Given the description of an element on the screen output the (x, y) to click on. 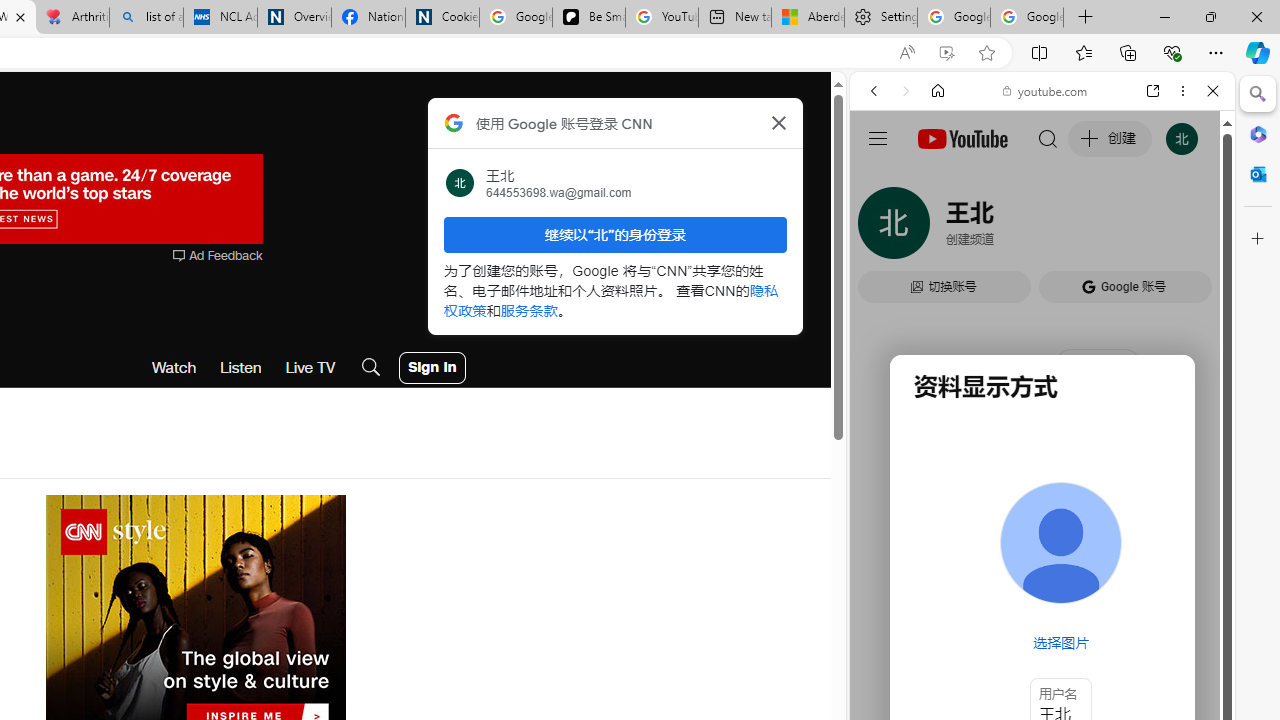
Trailer #2 [HD] (1042, 594)
Search Filter, WEB (882, 228)
youtube.com (1046, 90)
Live TV (310, 367)
Class: b_serphb (1190, 229)
list of asthma inhalers uk - Search (146, 17)
Forward (906, 91)
Close Customize pane (1258, 239)
User Account Log In Button (432, 367)
